Given the description of an element on the screen output the (x, y) to click on. 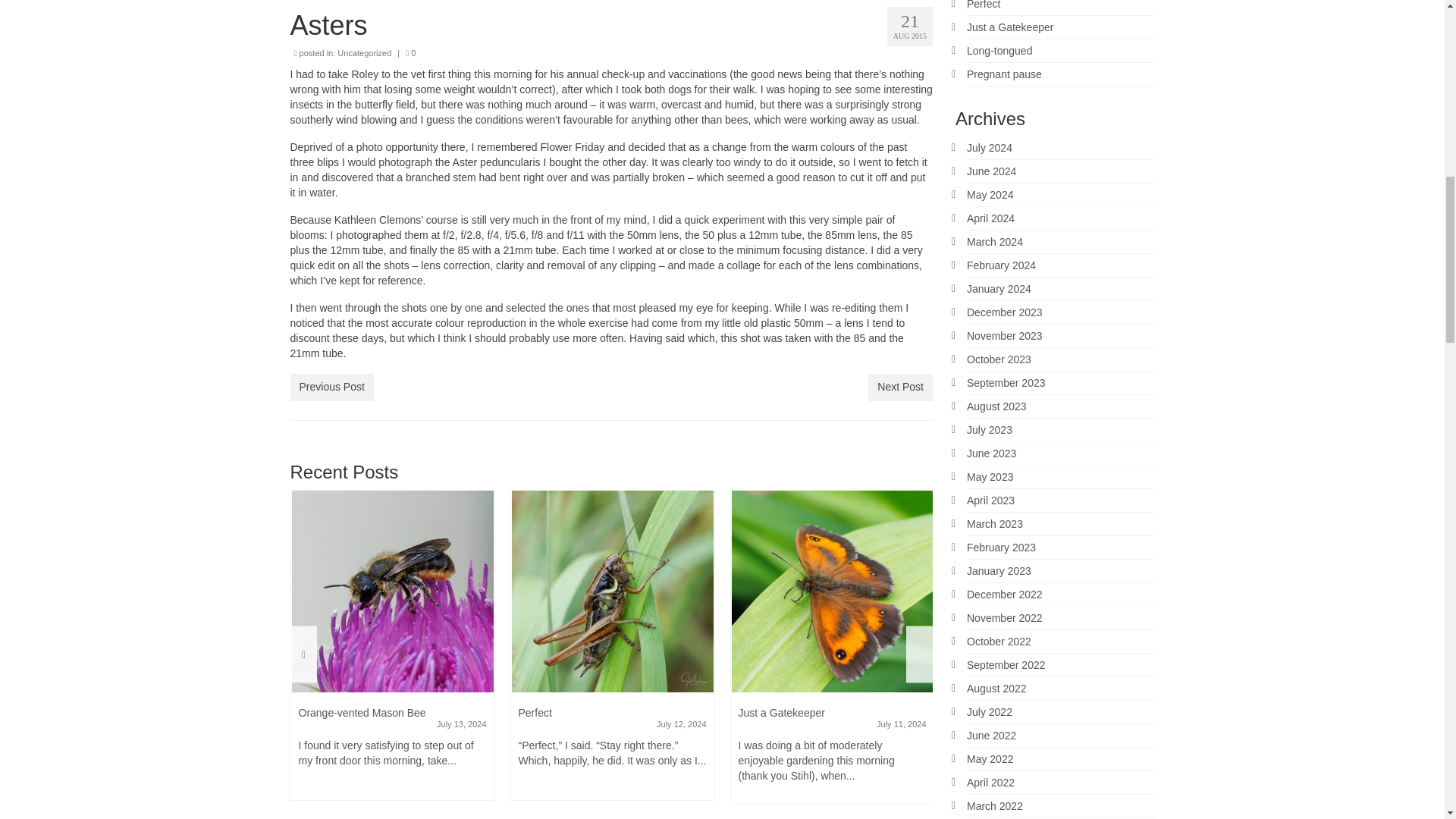
Uncategorized (364, 52)
Next Post (900, 387)
Just a Gatekeeper (832, 591)
Previous Post (330, 387)
Orange-vented Mason Bee (393, 591)
Perfect (612, 591)
